Given the description of an element on the screen output the (x, y) to click on. 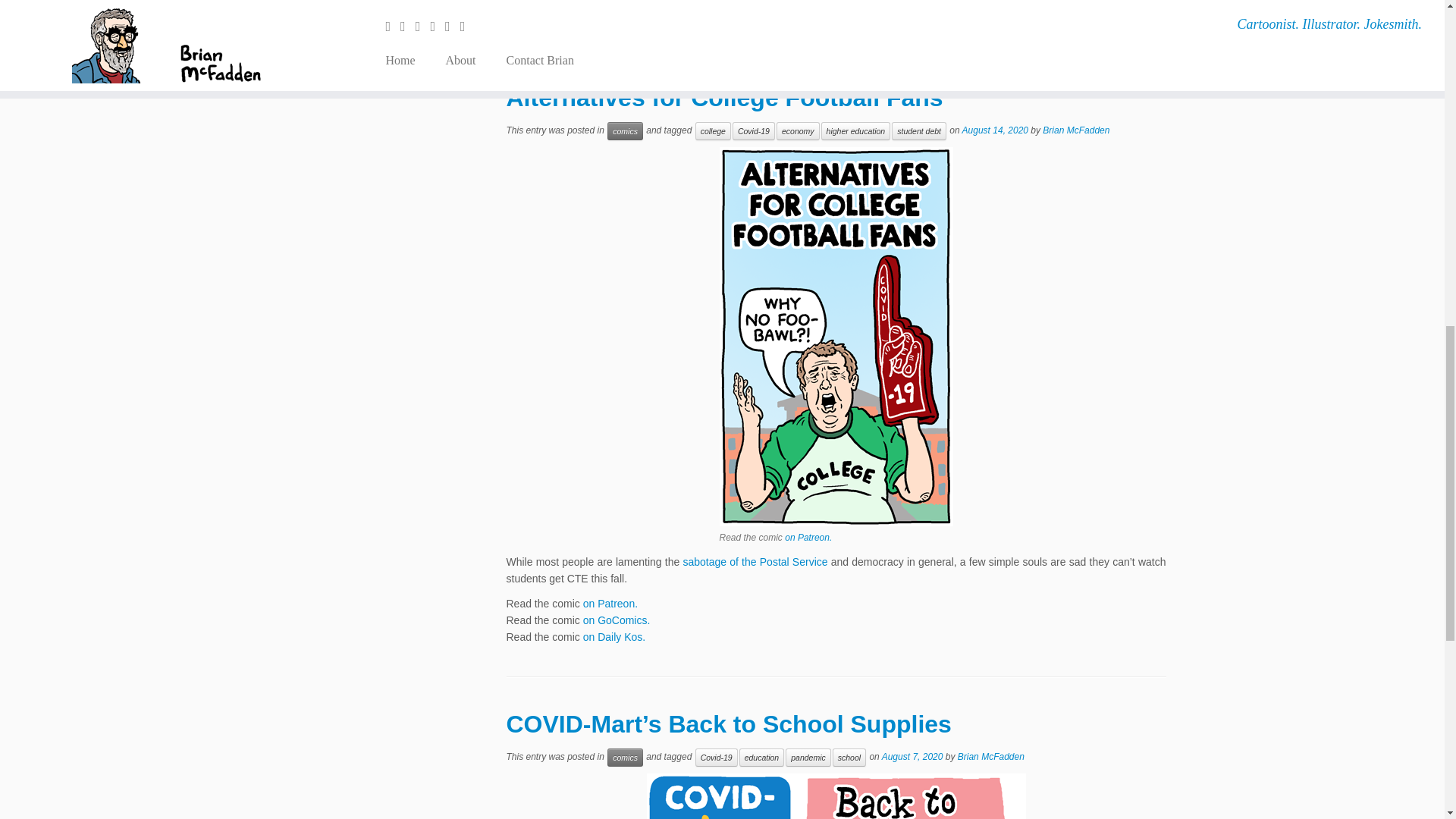
Alternatives for College Football Fans (724, 97)
economy (797, 131)
on GoComics. (616, 10)
college (712, 131)
comics (625, 131)
Covid-19 (753, 131)
